Given the description of an element on the screen output the (x, y) to click on. 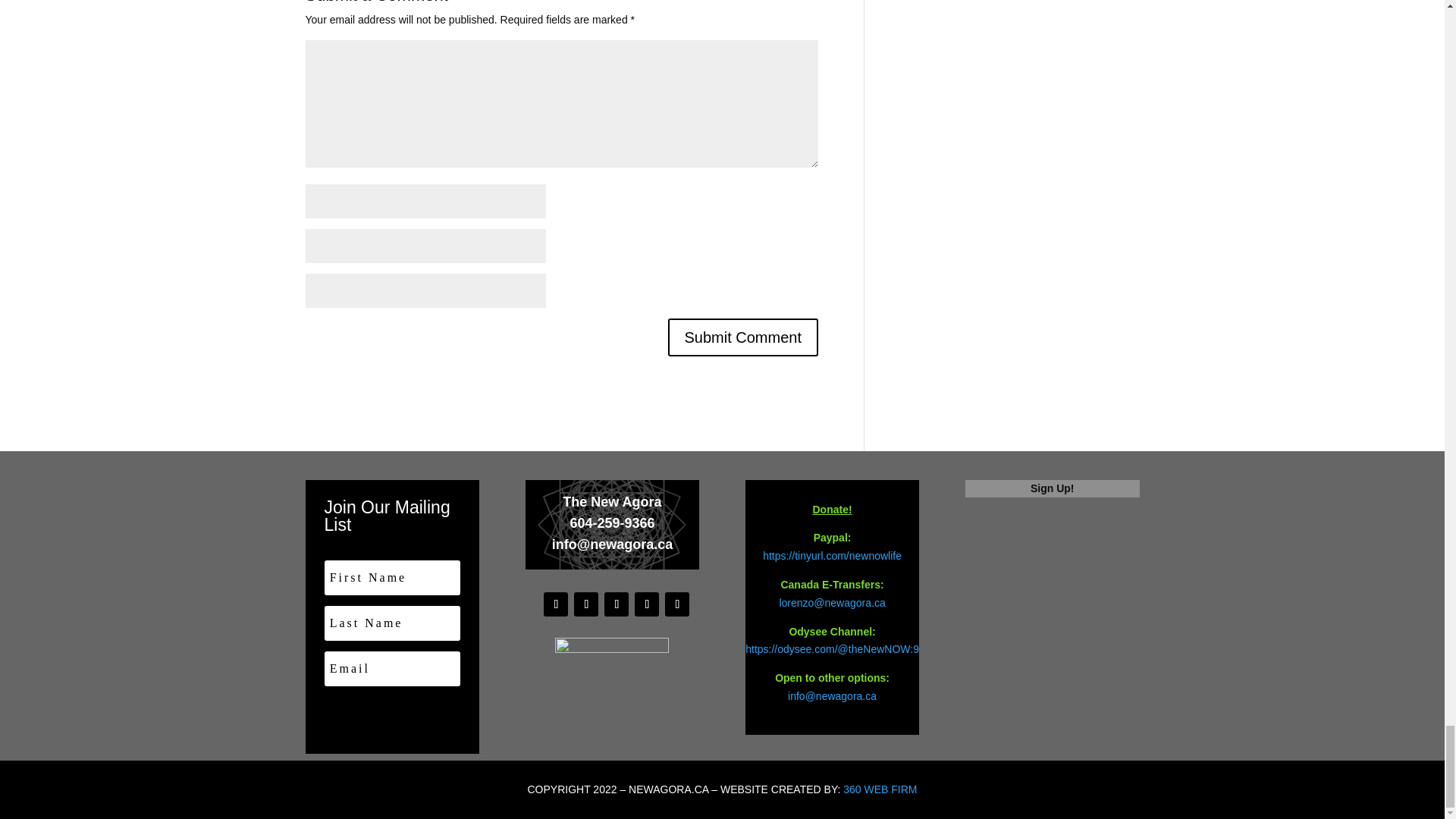
Submit Comment (742, 337)
